Given the description of an element on the screen output the (x, y) to click on. 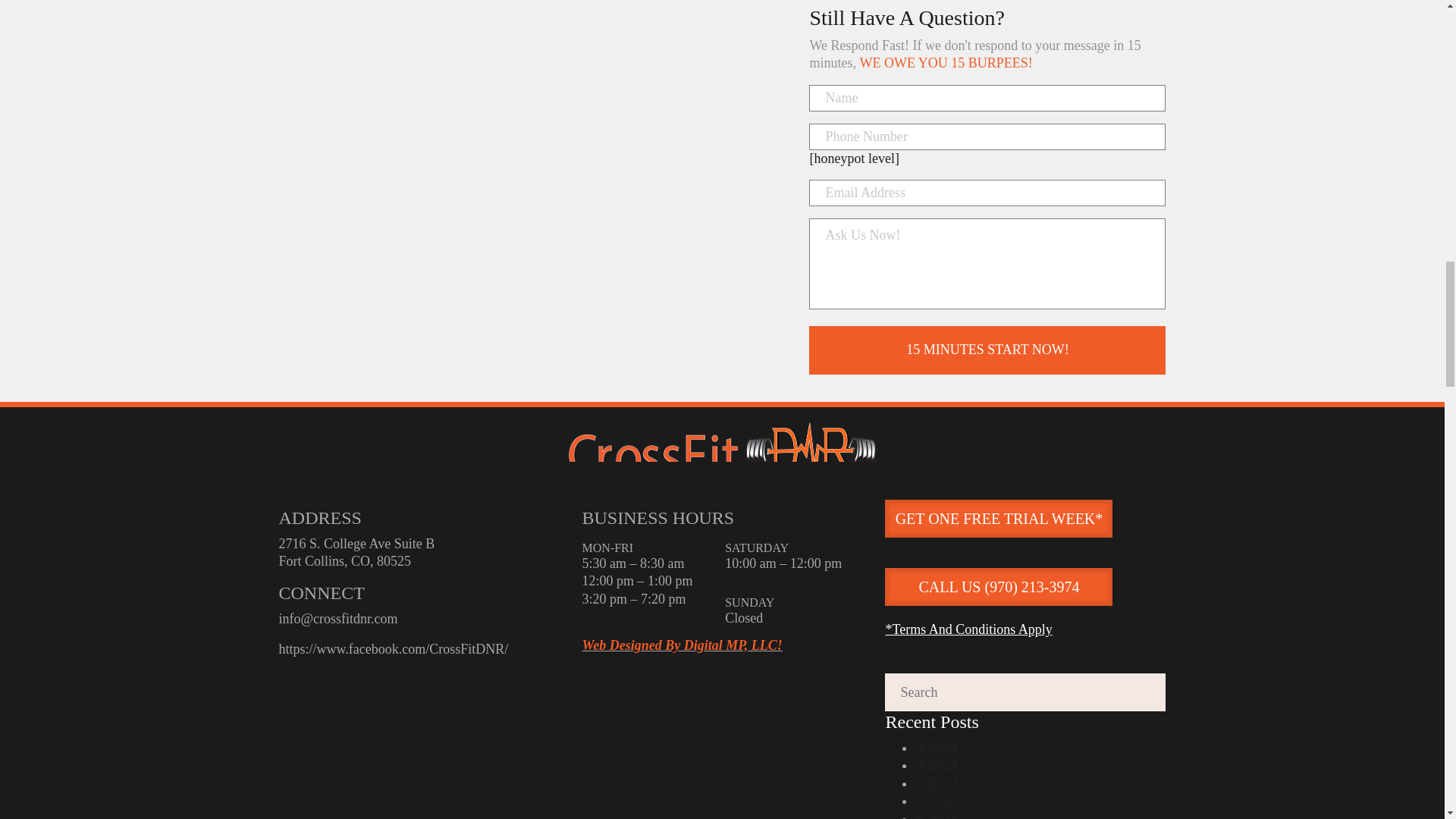
15 MINUTES START NOW! (987, 349)
Web Designed By Digital MP, LLC! (680, 645)
15 MINUTES START NOW! (987, 349)
